Given the description of an element on the screen output the (x, y) to click on. 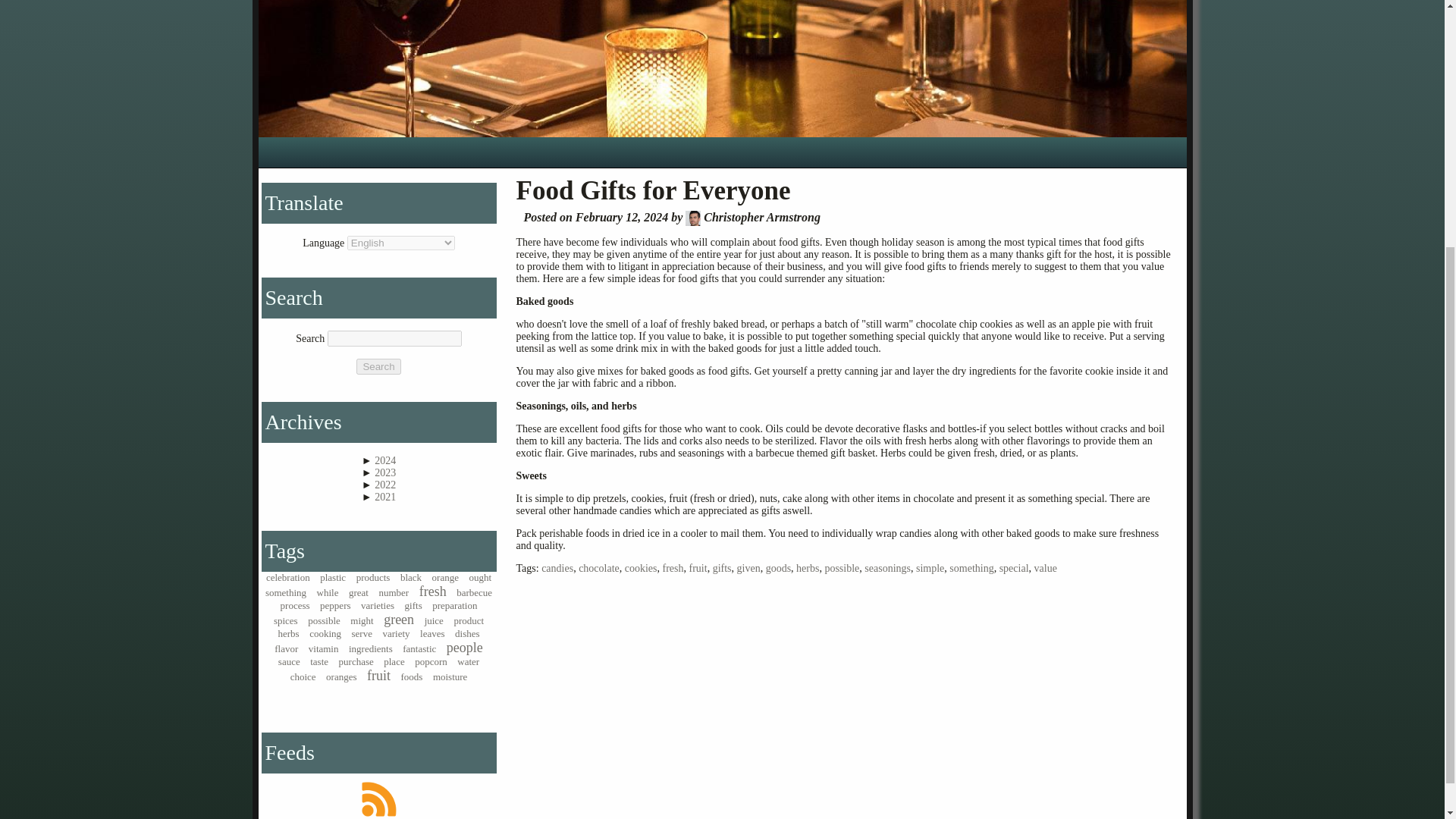
chocolate (599, 568)
fruit (697, 568)
Christopher Armstrong (692, 218)
given (748, 568)
Rss Feed (379, 799)
2023 (385, 472)
fresh (673, 568)
candies (557, 568)
herbs (807, 568)
goods (777, 568)
seasonings (887, 568)
gifts (722, 568)
cookies (641, 568)
Search (378, 366)
possible (841, 568)
